Given the description of an element on the screen output the (x, y) to click on. 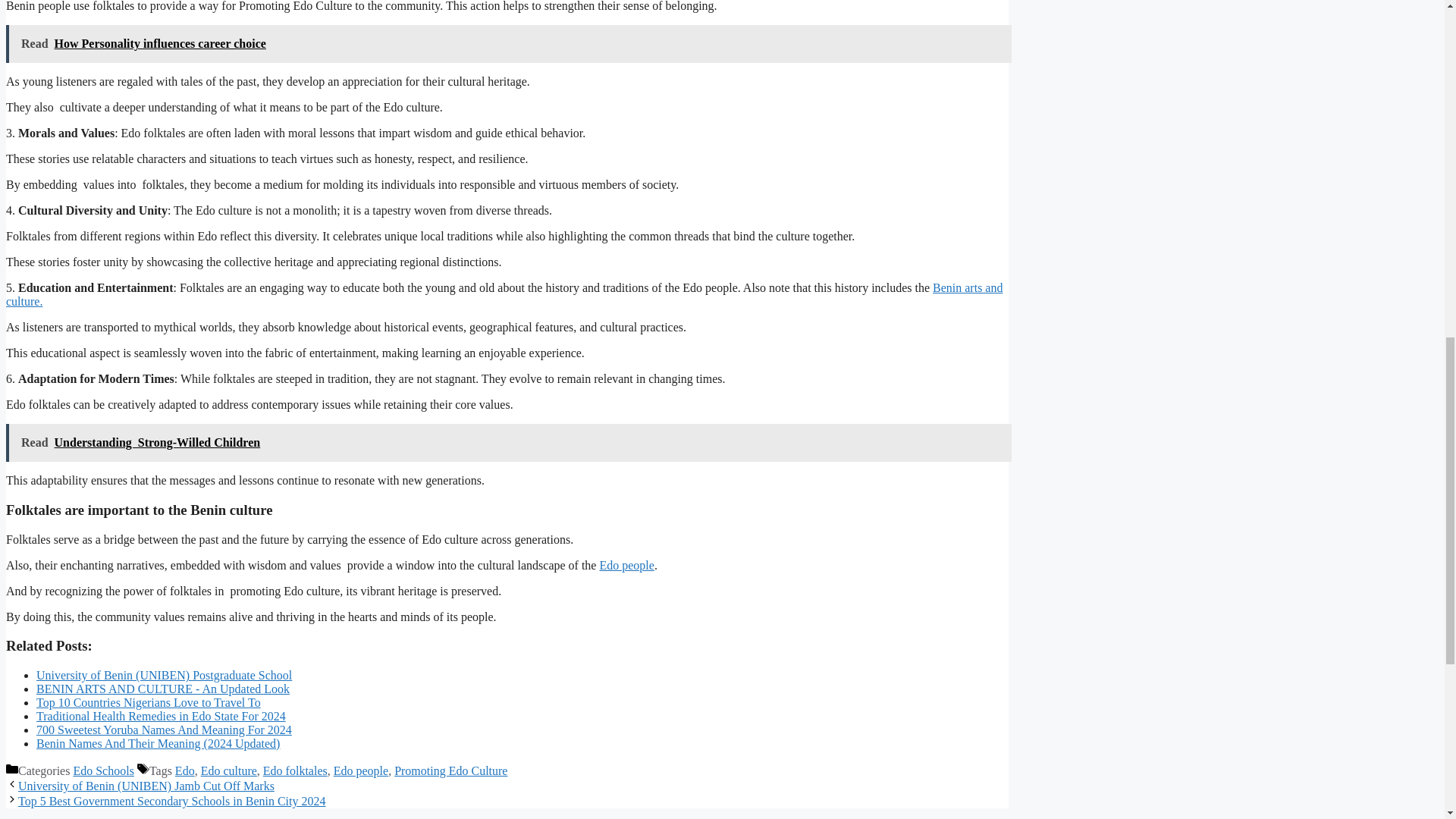
700 Sweetest Yoruba Names And Meaning For 2024 (164, 729)
Edo (184, 770)
Edo culture (228, 770)
Read  Understanding  Strong-Willed Children (508, 442)
Read  How Personality influences career choice (508, 44)
Edo folktales (295, 770)
Promoting Edo Culture (450, 770)
Top 10 Countries Nigerians Love to Travel To (148, 702)
Top 5 Best Government Secondary Schools in Benin City 2024 (171, 800)
Traditional Health Remedies in Edo State For 2024 (160, 716)
BENIN ARTS AND CULTURE - An Updated Look (162, 688)
Edo Schools (102, 770)
Edo people (625, 564)
Edo people (360, 770)
Benin arts and culture. (504, 294)
